Given the description of an element on the screen output the (x, y) to click on. 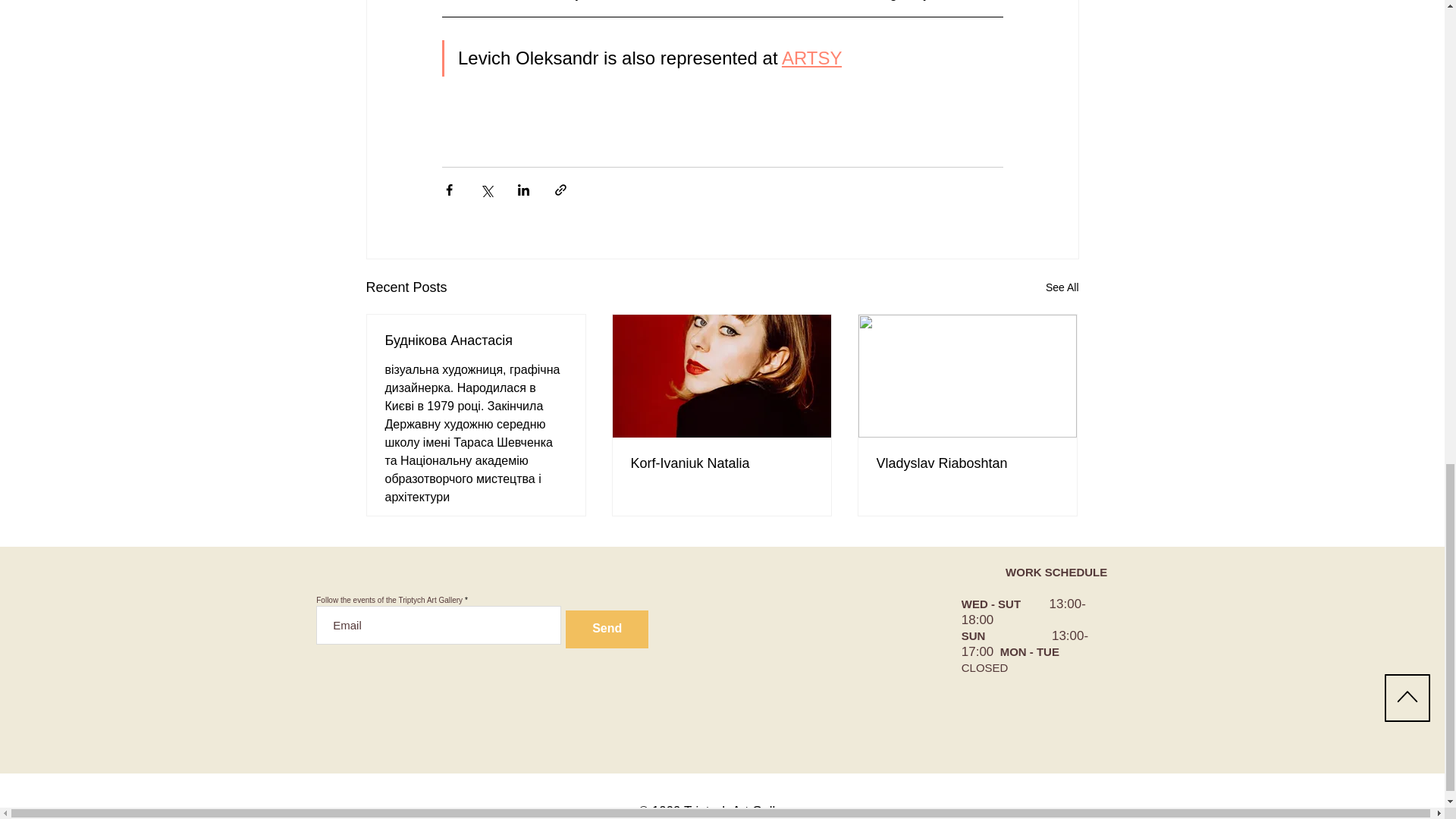
Korf-Ivaniuk Natalia (721, 463)
ARTSY (810, 57)
See All (1061, 287)
Vladyslav Riaboshtan (967, 463)
Send (606, 629)
